Given the description of an element on the screen output the (x, y) to click on. 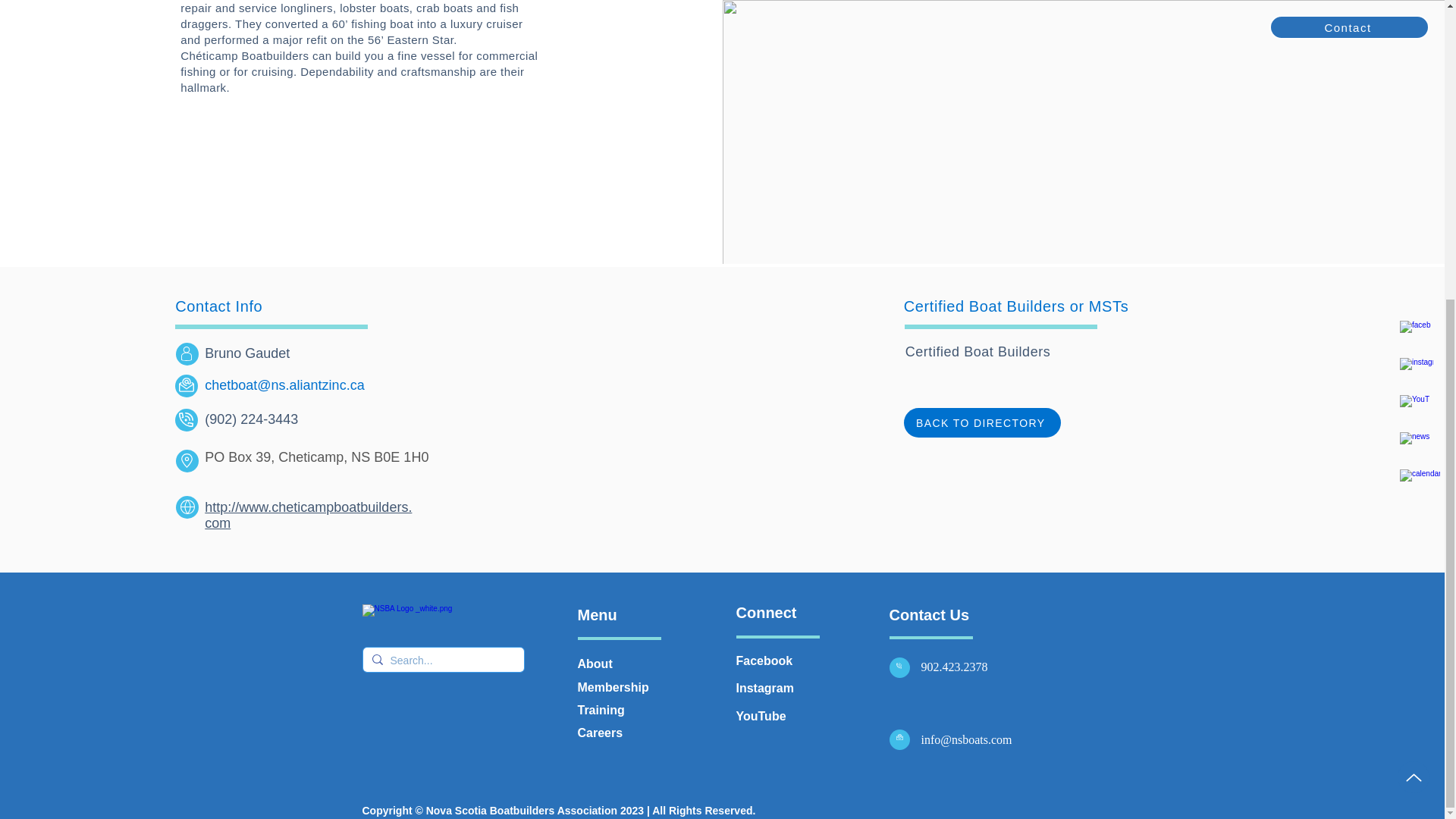
Training (601, 709)
Membership (613, 686)
Careers (600, 732)
BACK TO DIRECTORY (982, 422)
About (595, 663)
